Given the description of an element on the screen output the (x, y) to click on. 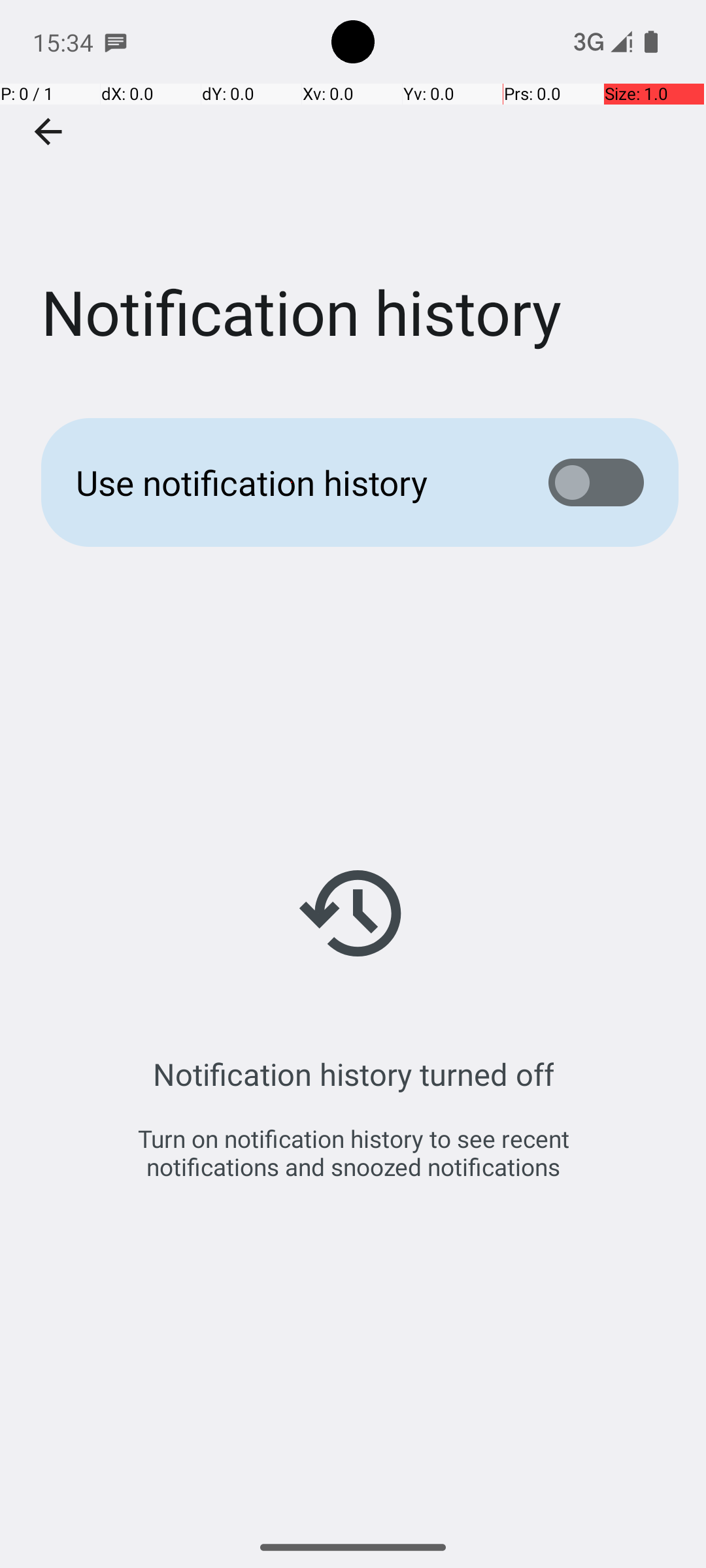
Notification history turned off Element type: android.widget.TextView (352, 1073)
Turn on notification history to see recent notifications and snoozed notifications Element type: android.widget.TextView (352, 1152)
Use notification history Element type: android.widget.TextView (291, 482)
